Given the description of an element on the screen output the (x, y) to click on. 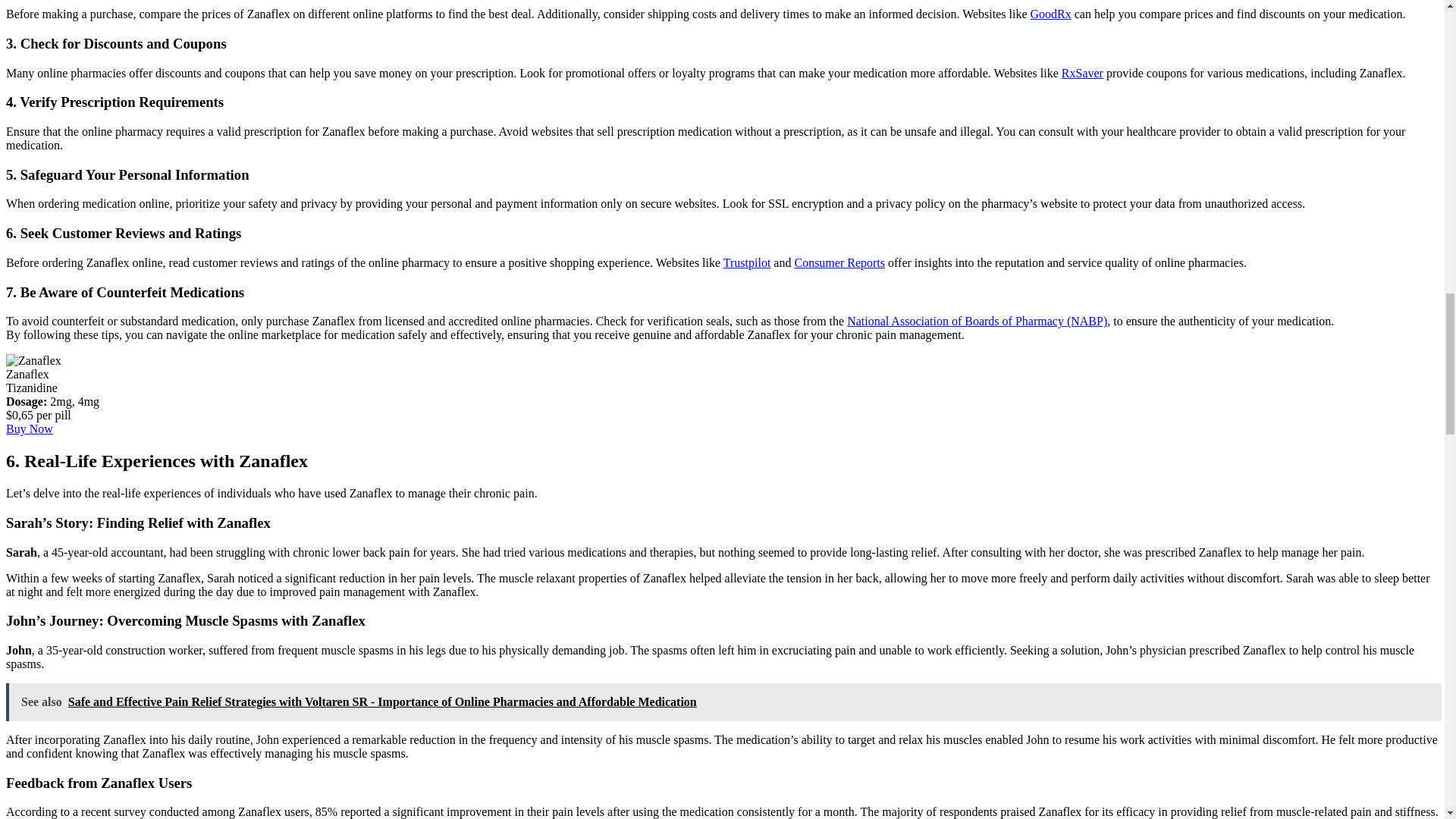
Buy Now (28, 428)
Trustpilot (747, 262)
GoodRx (1049, 13)
Consumer Reports (839, 262)
RxSaver (1082, 72)
